Given the description of an element on the screen output the (x, y) to click on. 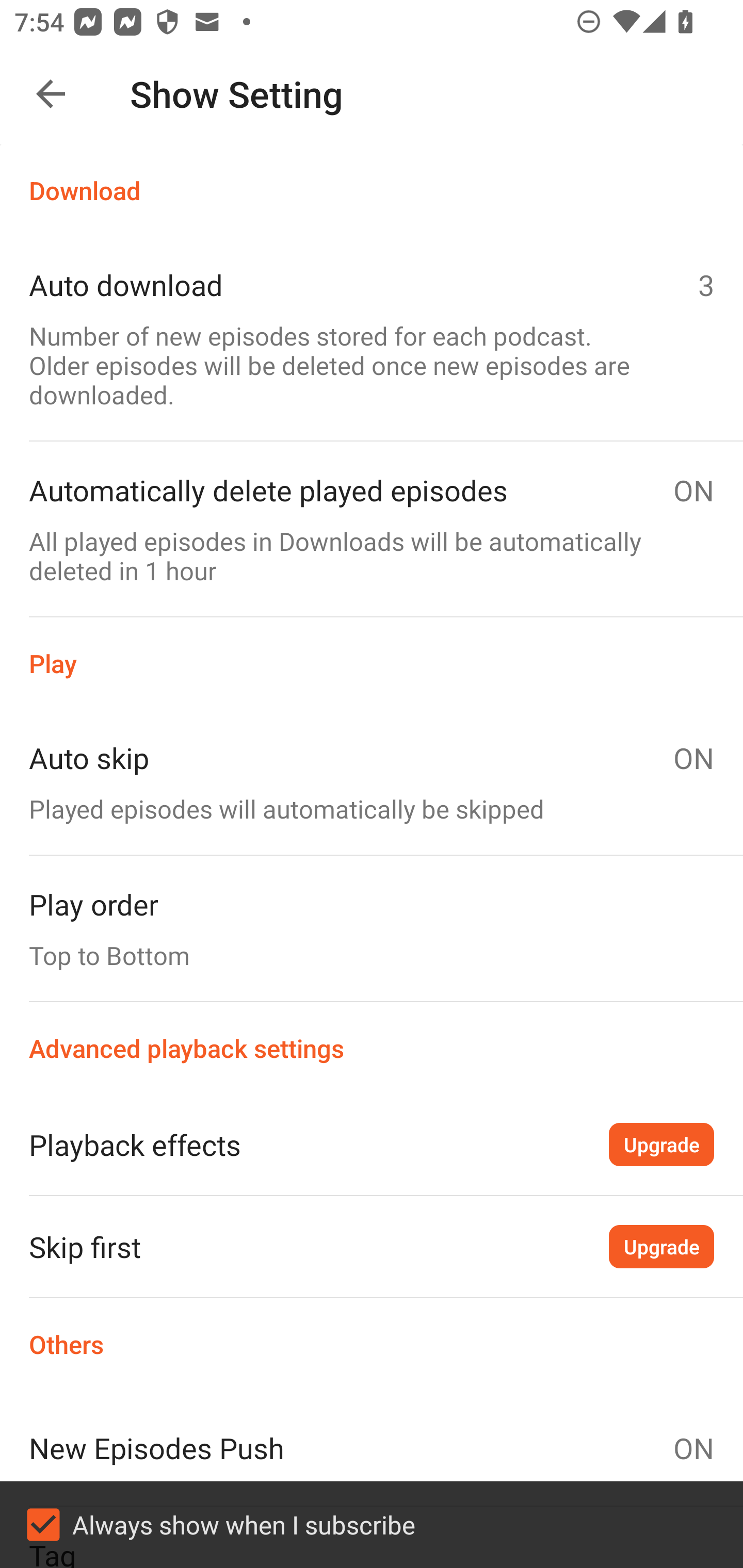
Navigate up (50, 93)
Play order Top to Bottom (371, 928)
Playback effects Upgrade (371, 1144)
Skip first Upgrade (371, 1246)
New Episodes Push ON (371, 1447)
Always show when I subscribe (371, 1524)
